Given the description of an element on the screen output the (x, y) to click on. 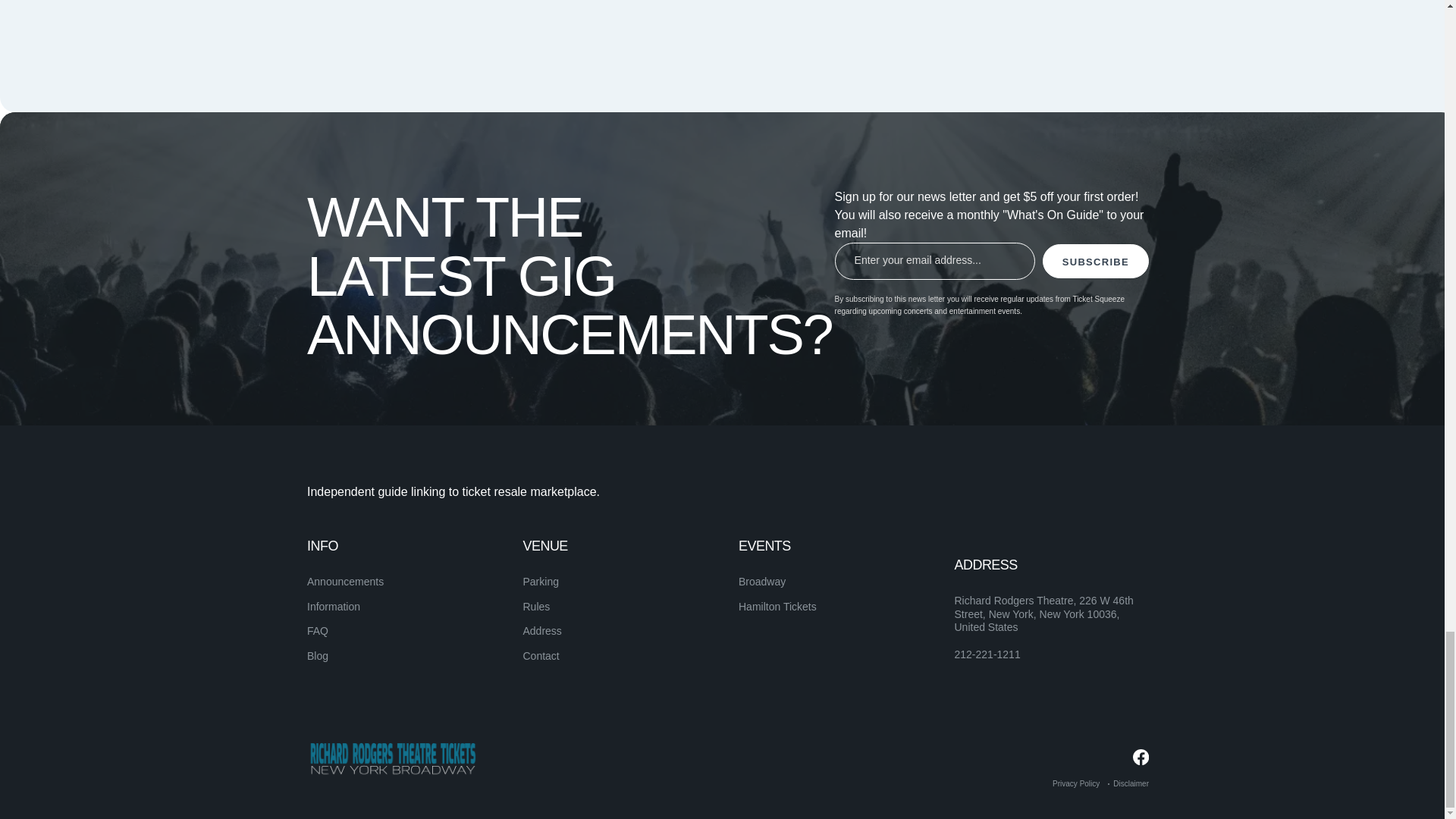
Broadway (762, 581)
Contact (540, 655)
Hamilton Tickets (777, 606)
212-221-1211 (986, 654)
Rules (536, 606)
Parking (540, 581)
Address (542, 630)
FAQ (318, 630)
SUBSCRIBE (1095, 261)
Announcements (345, 581)
